Given the description of an element on the screen output the (x, y) to click on. 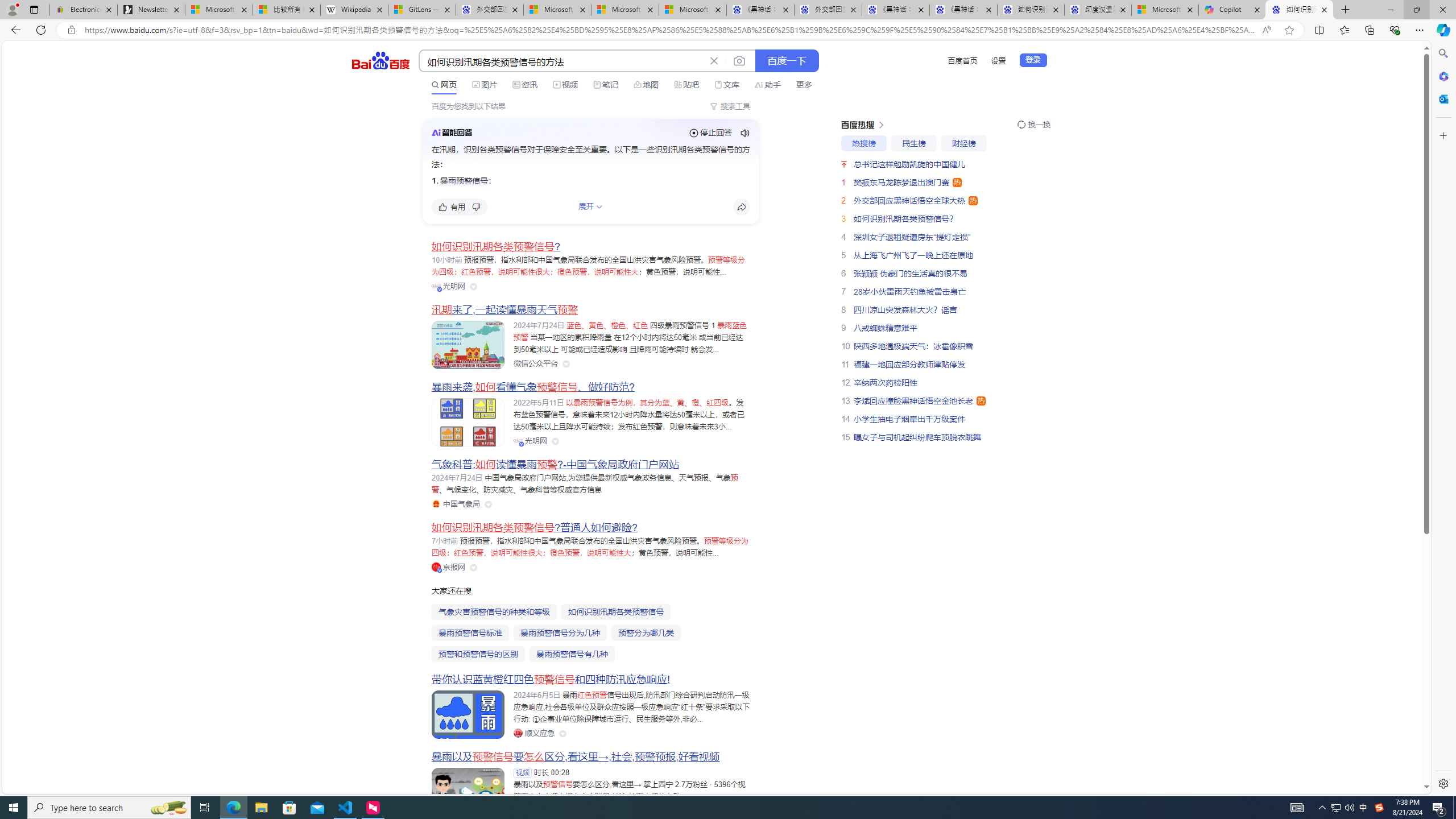
AutomationID: kw (562, 61)
Copilot (Ctrl+Shift+.) (1442, 29)
App bar (728, 29)
Wikipedia (354, 9)
Outlook (1442, 98)
